Given the description of an element on the screen output the (x, y) to click on. 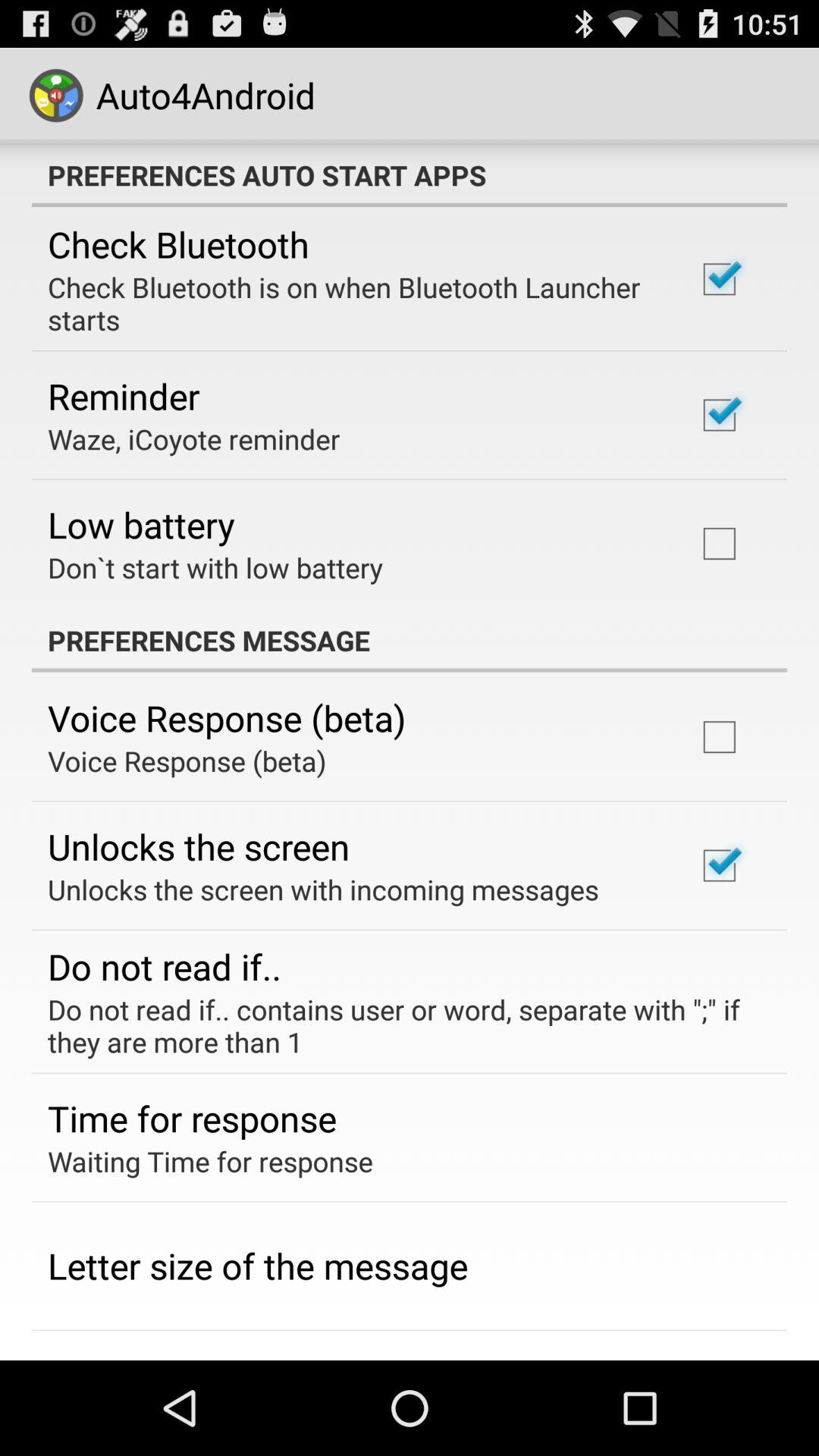
scroll until don t start (214, 567)
